Given the description of an element on the screen output the (x, y) to click on. 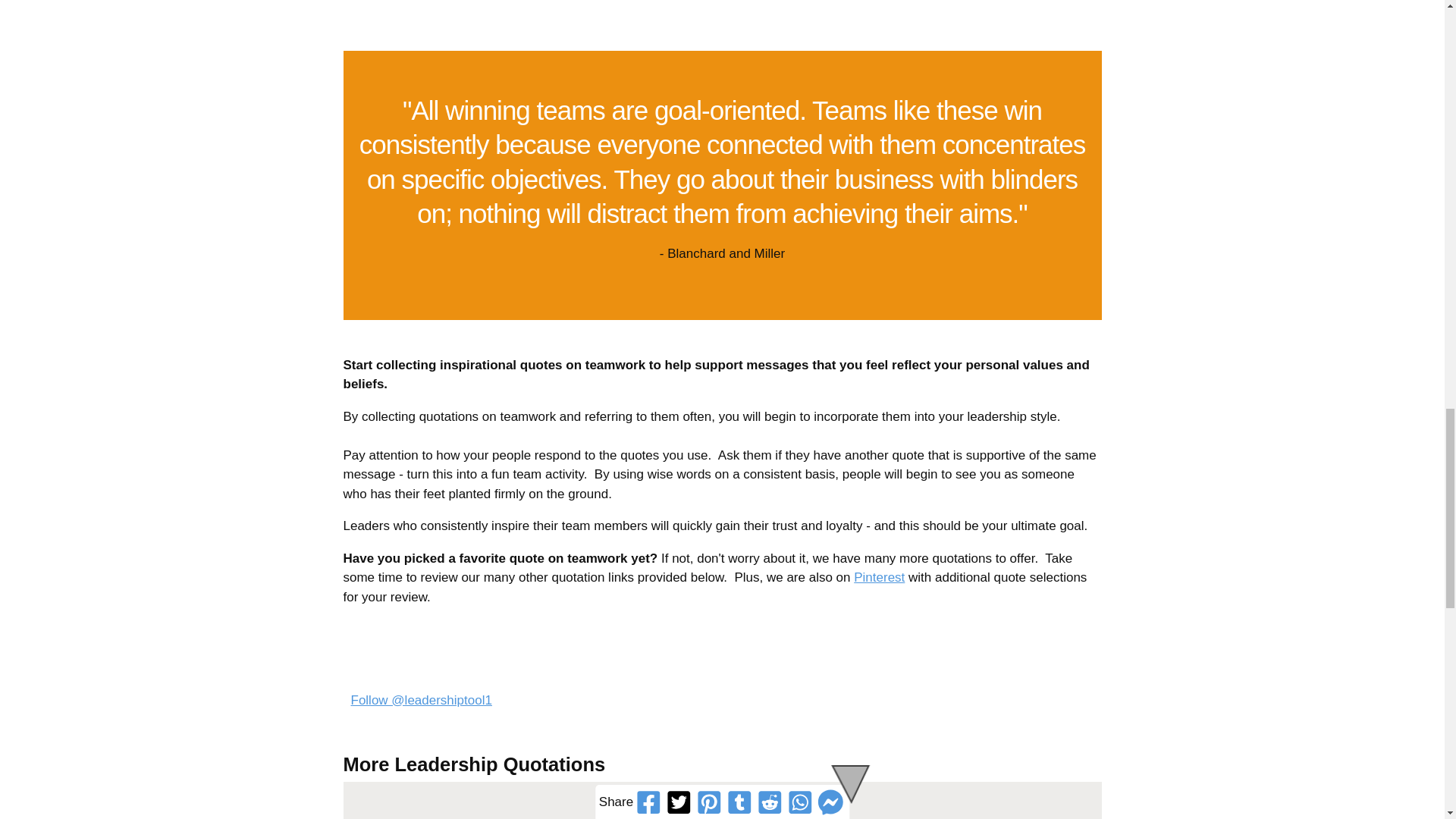
Courage Quotations (721, 812)
Motivation Quotations (478, 812)
Determination Quotations (964, 812)
